Given the description of an element on the screen output the (x, y) to click on. 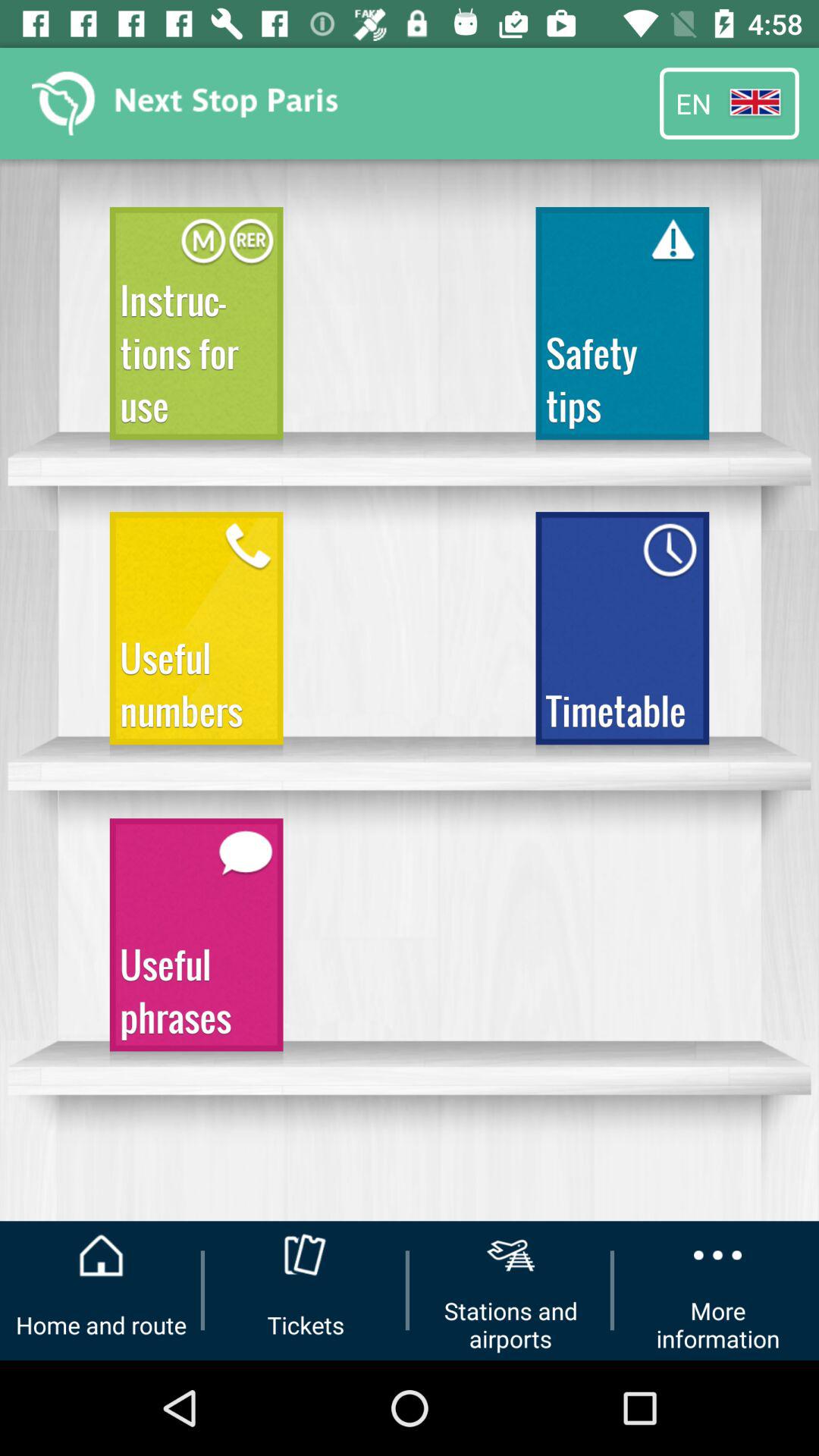
select instructions for use item (196, 330)
